Given the description of an element on the screen output the (x, y) to click on. 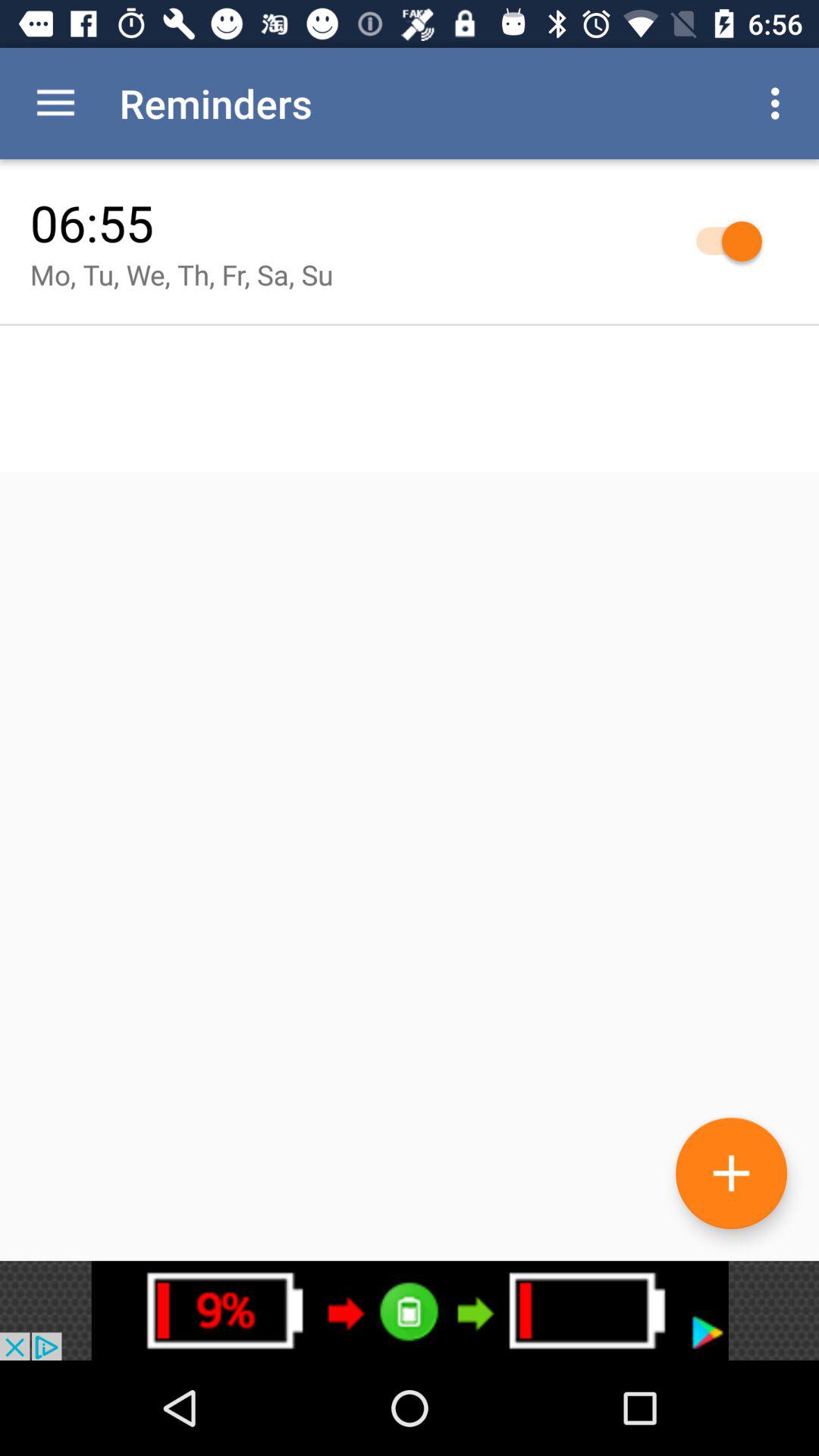
notifications (409, 1310)
